Given the description of an element on the screen output the (x, y) to click on. 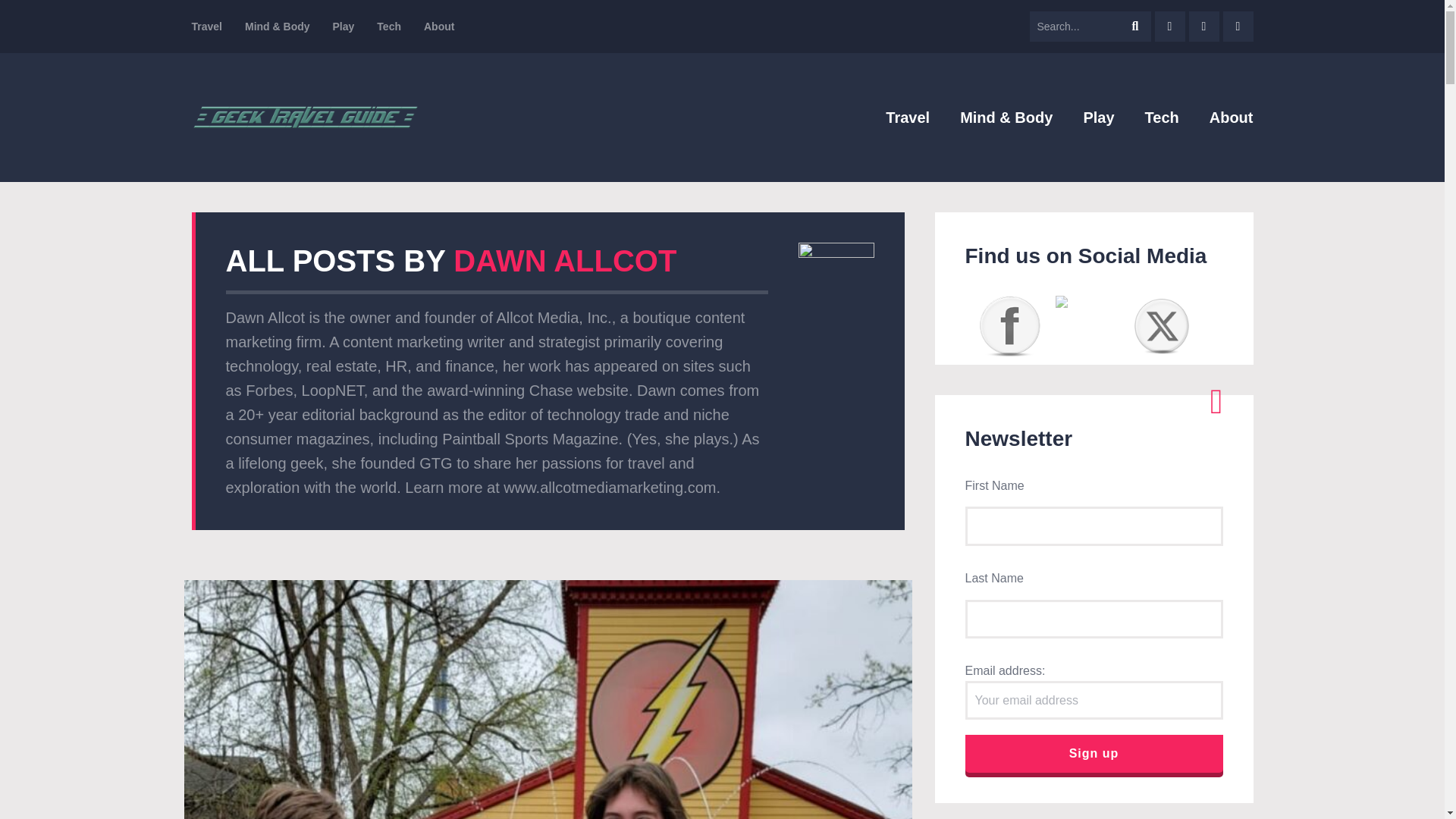
facebook-f (1169, 26)
Travel (205, 26)
Play (1098, 117)
About (438, 26)
Travel (907, 117)
instagram (1204, 26)
Sign up (1093, 753)
Twitter (1161, 325)
Instagram (1085, 311)
Play (344, 26)
About (1231, 117)
Tech (389, 26)
Facebook (1010, 325)
Tech (1161, 117)
twitter (1237, 26)
